Given the description of an element on the screen output the (x, y) to click on. 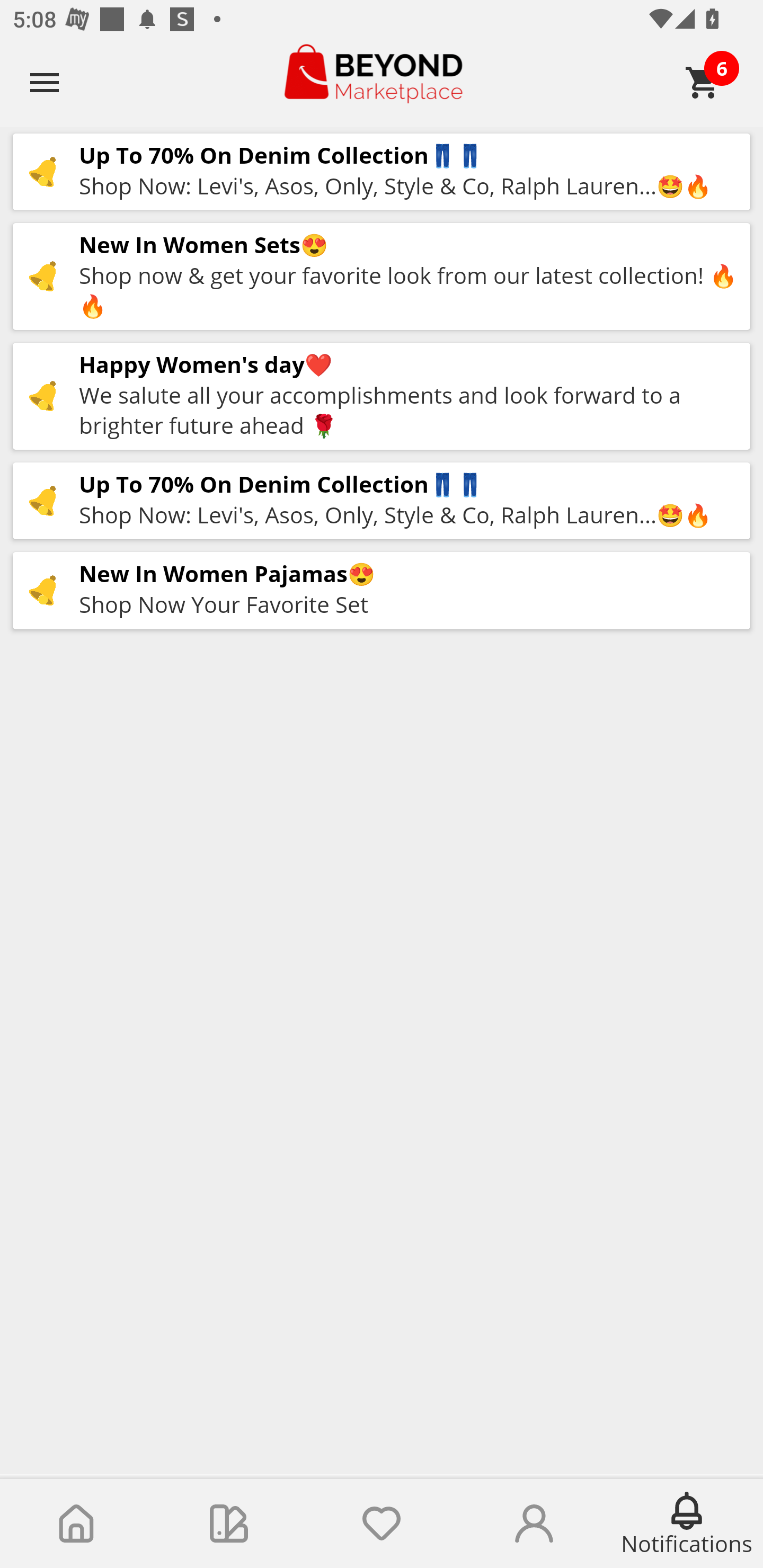
Navigate up (44, 82)
New In Women Pajamas😍 Shop Now Your Favorite Set (381, 589)
Home (76, 1523)
Collections (228, 1523)
Wishlist (381, 1523)
Account (533, 1523)
